Given the description of an element on the screen output the (x, y) to click on. 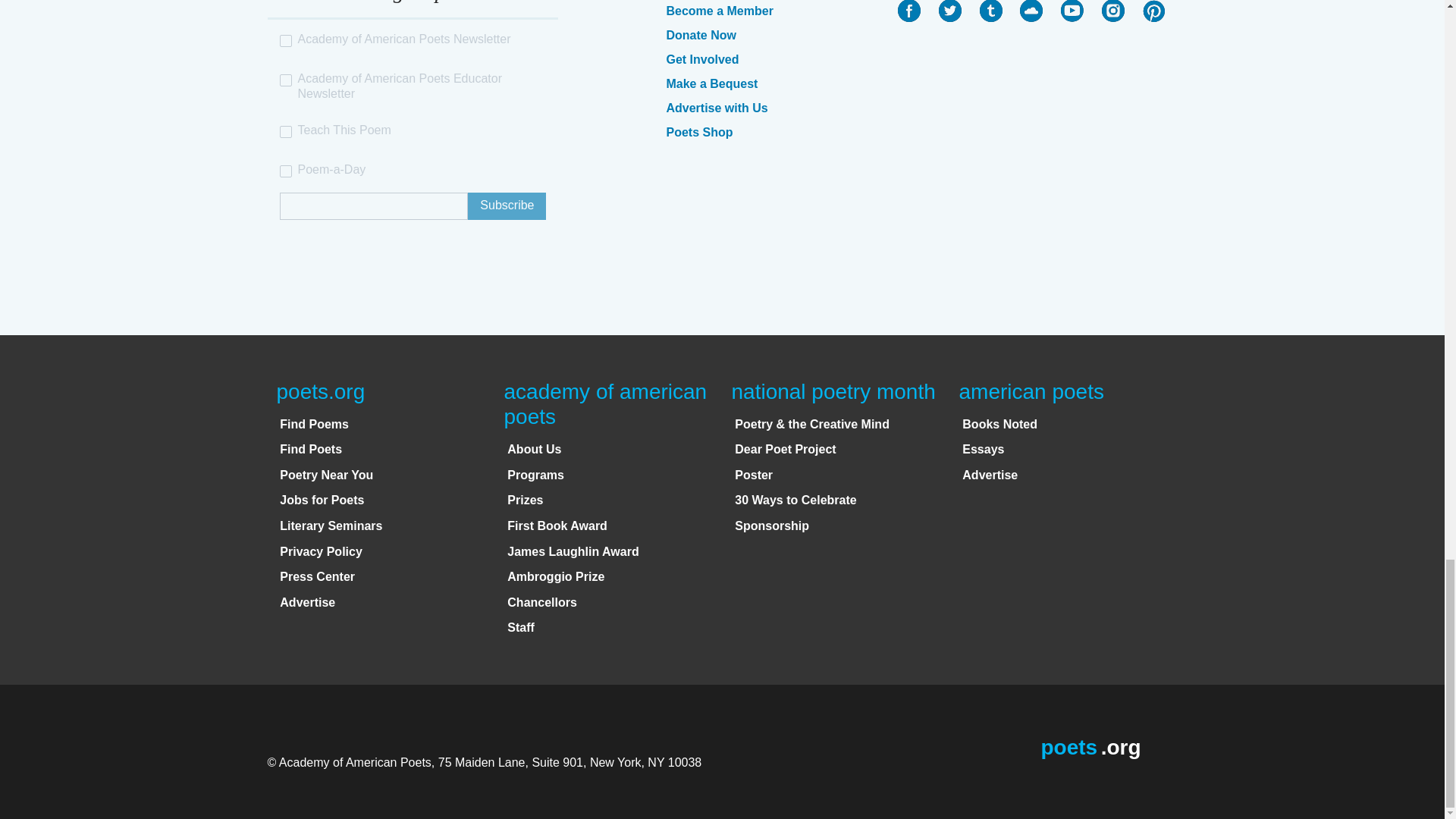
Poetry Near You (325, 474)
Subscribe (506, 206)
Jobs for Poets (321, 499)
